Given the description of an element on the screen output the (x, y) to click on. 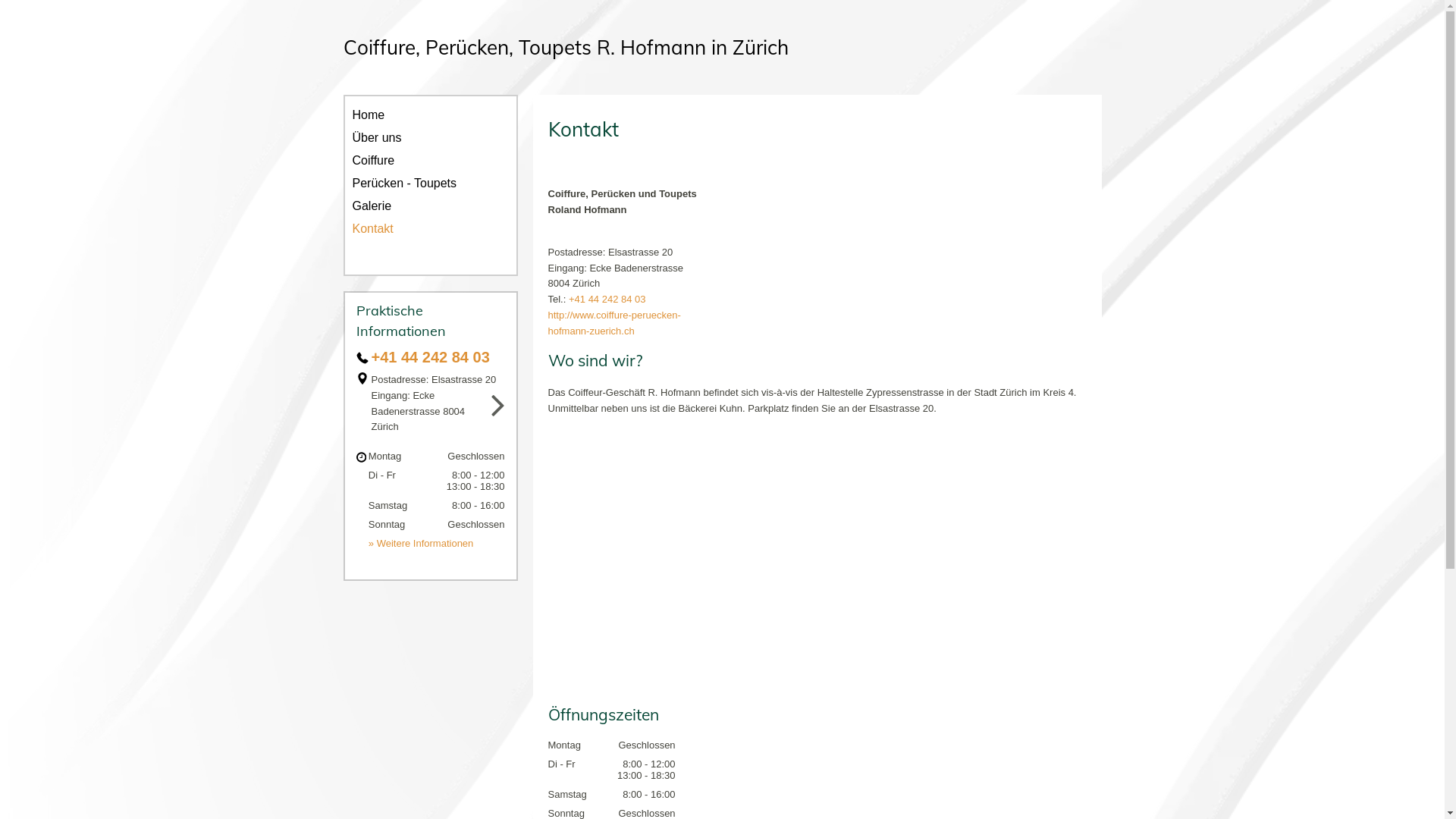
Galerie Element type: text (429, 205)
+41 44 242 84 03 Element type: text (430, 356)
Kontakt Element type: text (429, 228)
Home Element type: text (429, 114)
+41 44 242 84 03 Element type: text (607, 298)
Coiffure Element type: text (429, 160)
http://www.coiffure-peruecken-hofmann-zuerich.ch Element type: text (613, 322)
